Given the description of an element on the screen output the (x, y) to click on. 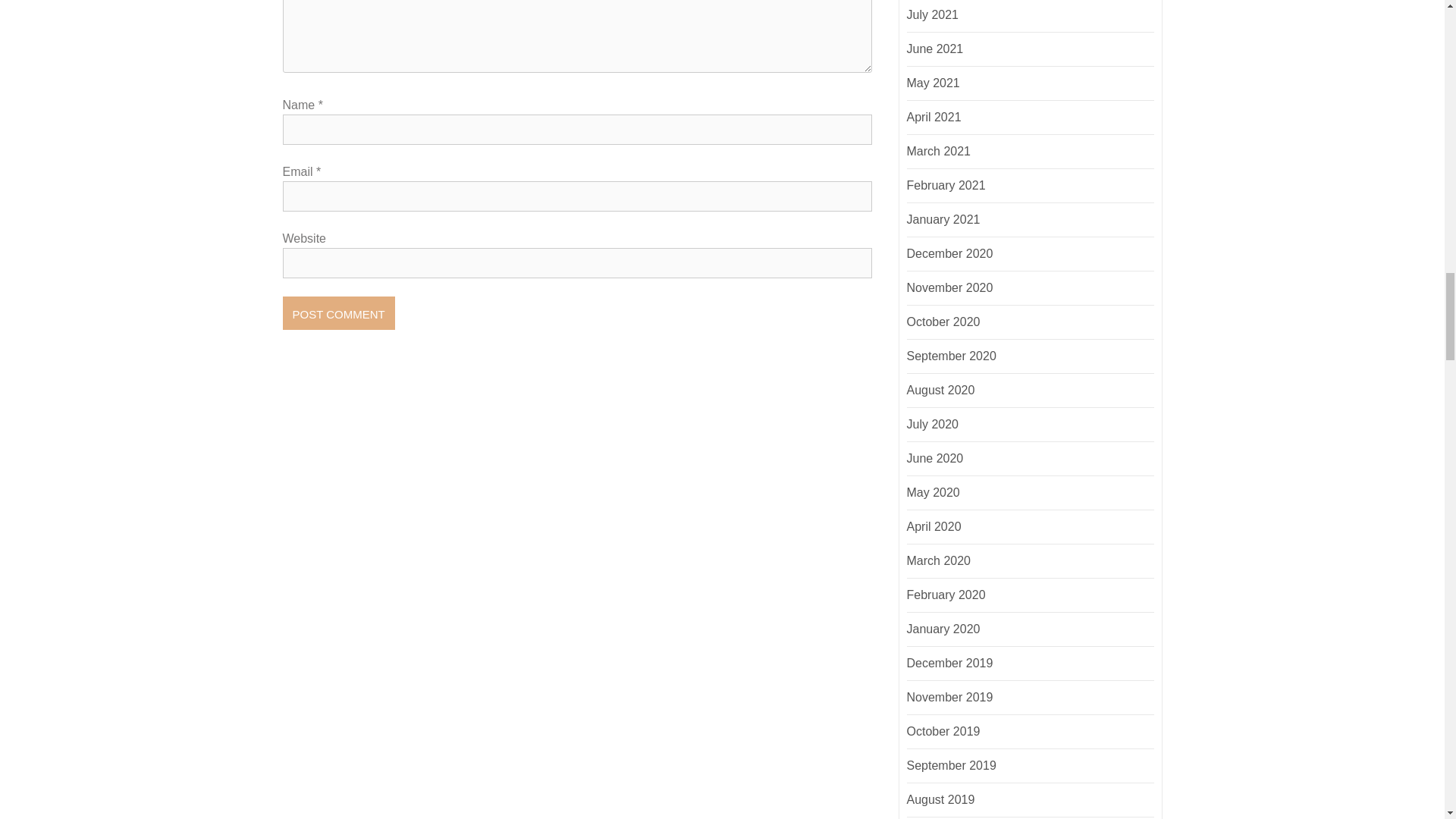
Post Comment (338, 313)
Post Comment (338, 313)
